Given the description of an element on the screen output the (x, y) to click on. 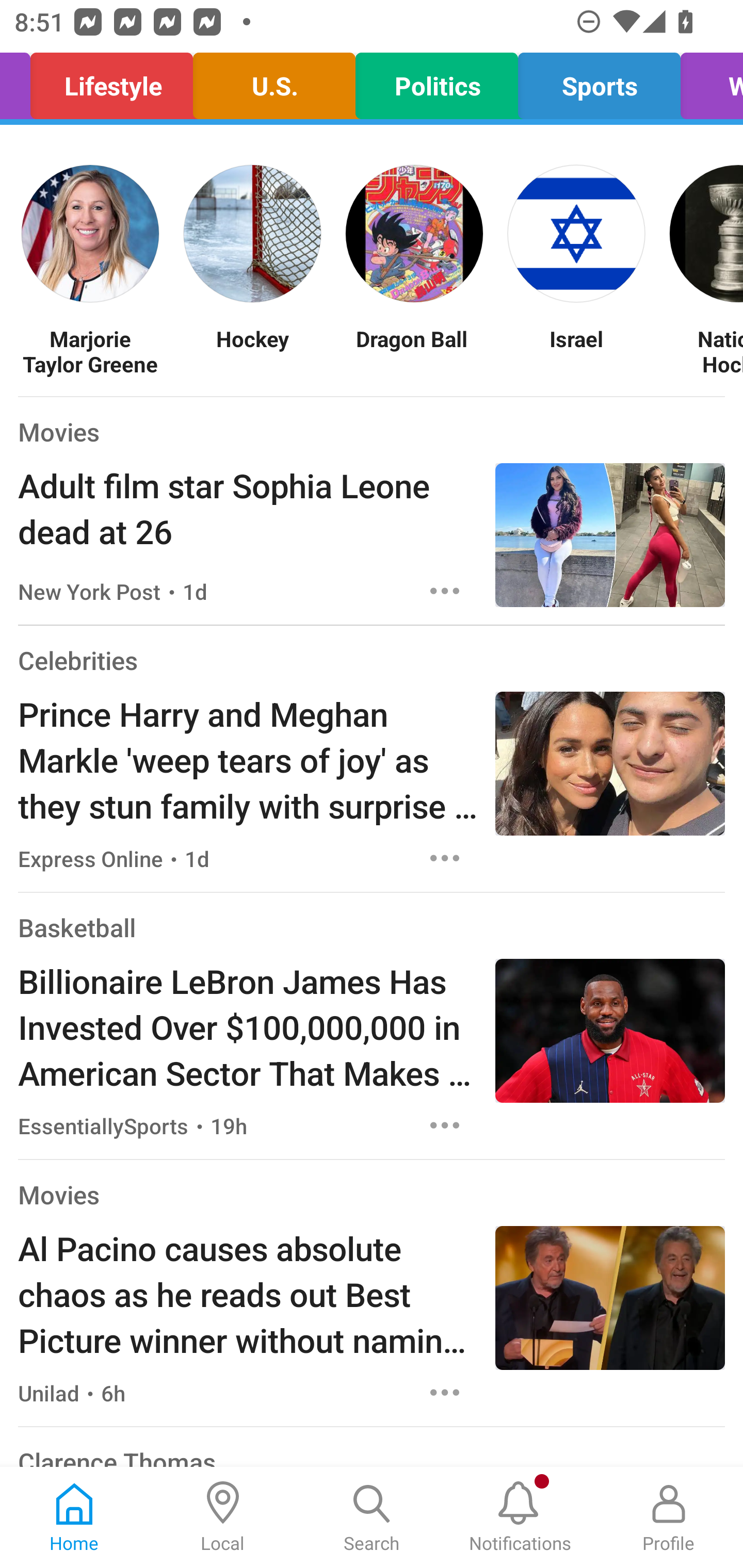
Lifestyle (111, 81)
U.S. (274, 81)
Politics (436, 81)
Sports (599, 81)
Marjorie Taylor Greene (89, 350)
Hockey (251, 350)
Dragon Ball  (413, 350)
Israel (575, 350)
Movies (58, 430)
Options (444, 591)
Celebrities (77, 659)
Options (444, 858)
Basketball (76, 927)
Options (444, 1125)
Movies (58, 1194)
Options (444, 1392)
Local (222, 1517)
Search (371, 1517)
Notifications, New notification Notifications (519, 1517)
Profile (668, 1517)
